Given the description of an element on the screen output the (x, y) to click on. 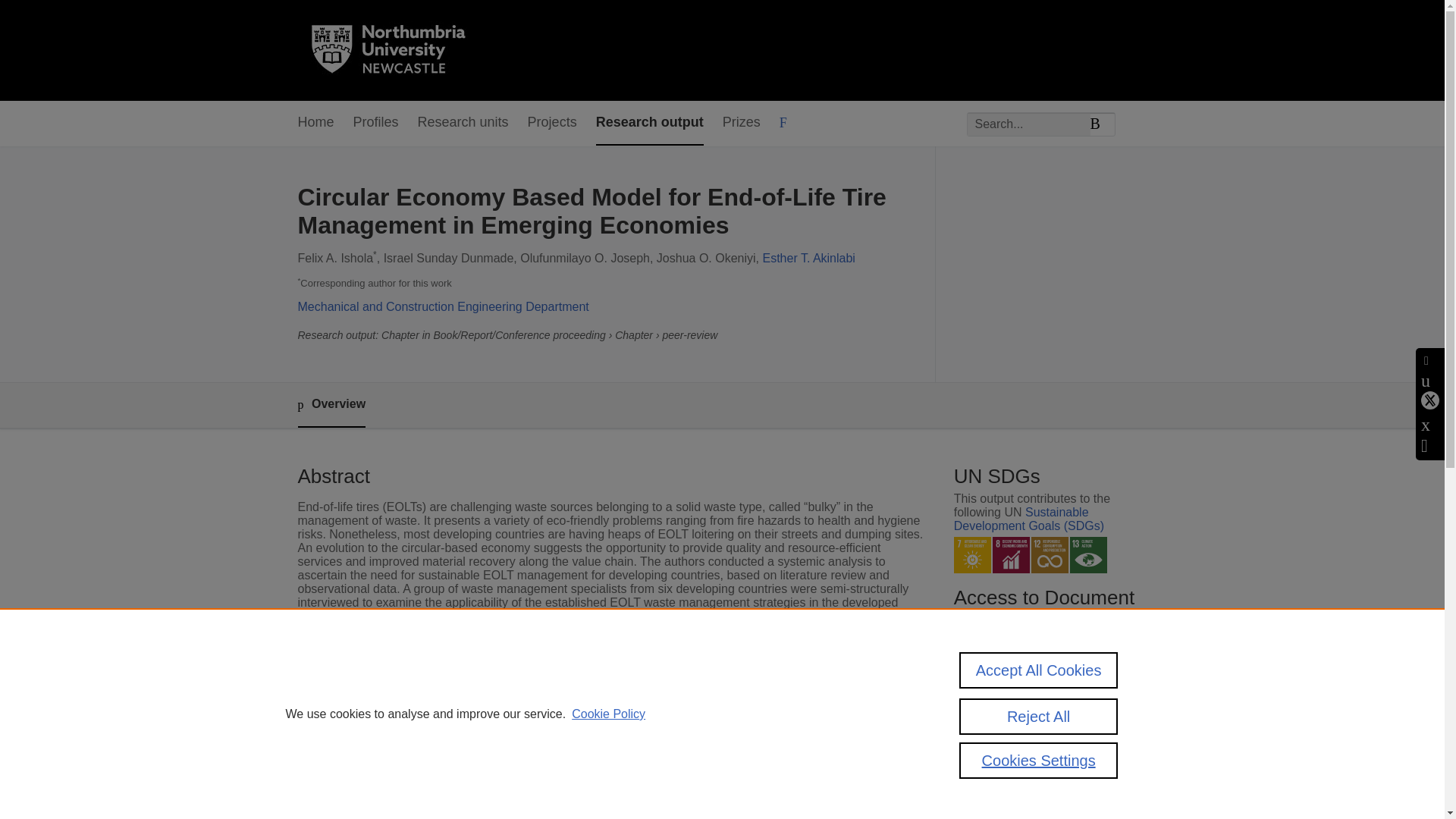
Research output (649, 122)
SDG 12 - Responsible Consumption and Production (1049, 555)
Link to publication in Scopus (1045, 679)
SDG 7 - Affordable and Clean Energy (972, 555)
Overview (331, 405)
Cookies Settings (1038, 760)
Projects (551, 122)
Esther T. Akinlabi (807, 257)
Profiles (375, 122)
